Given the description of an element on the screen output the (x, y) to click on. 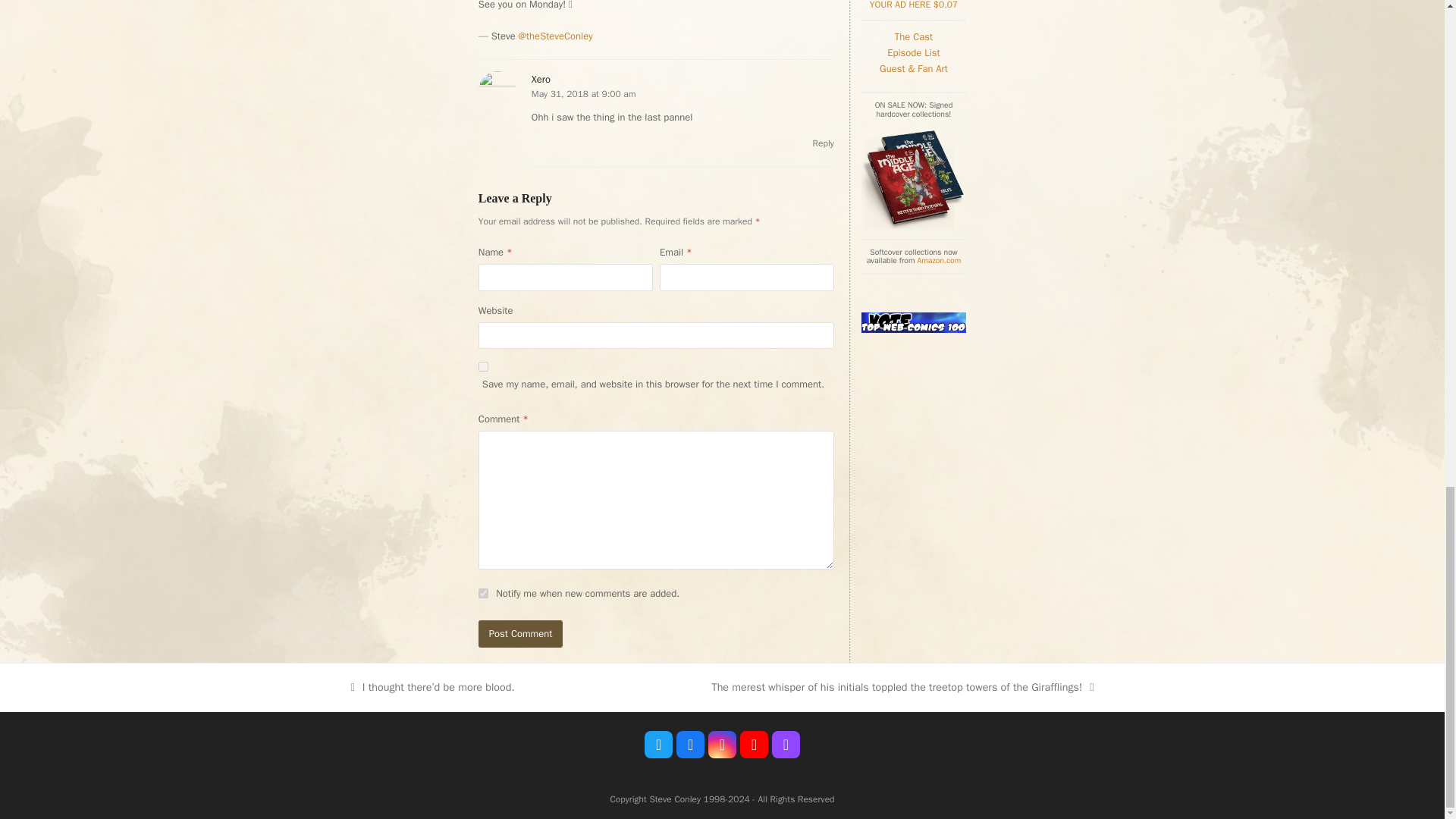
Twitter (658, 745)
Reply (823, 143)
1 (483, 593)
Post Comment (521, 633)
yes (483, 366)
Vote for The Middle Age on TopWebComics! (913, 328)
YouTube (753, 745)
Instagram (721, 745)
May 31, 2018 at 9:00 am (583, 93)
Facebook (690, 745)
Twitch (785, 745)
Post Comment (521, 633)
